Given the description of an element on the screen output the (x, y) to click on. 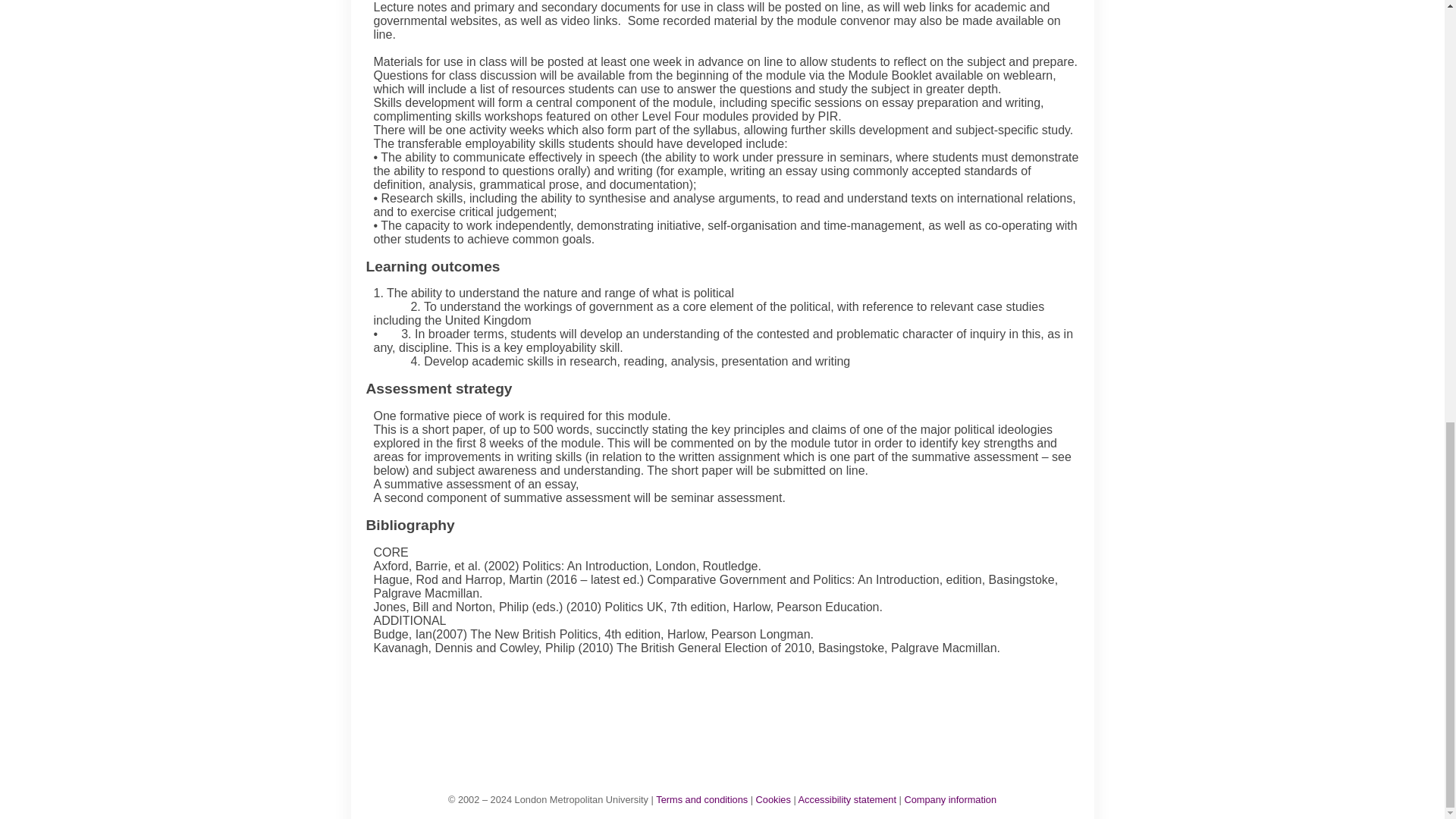
Cookies (772, 799)
Cookies (772, 799)
Terms and conditions (702, 799)
Accessibility statement (846, 799)
Advertisement (729, 708)
Company information (949, 799)
Company information (949, 799)
Accessibility statement (846, 799)
Terms and conditions (702, 799)
